Given the description of an element on the screen output the (x, y) to click on. 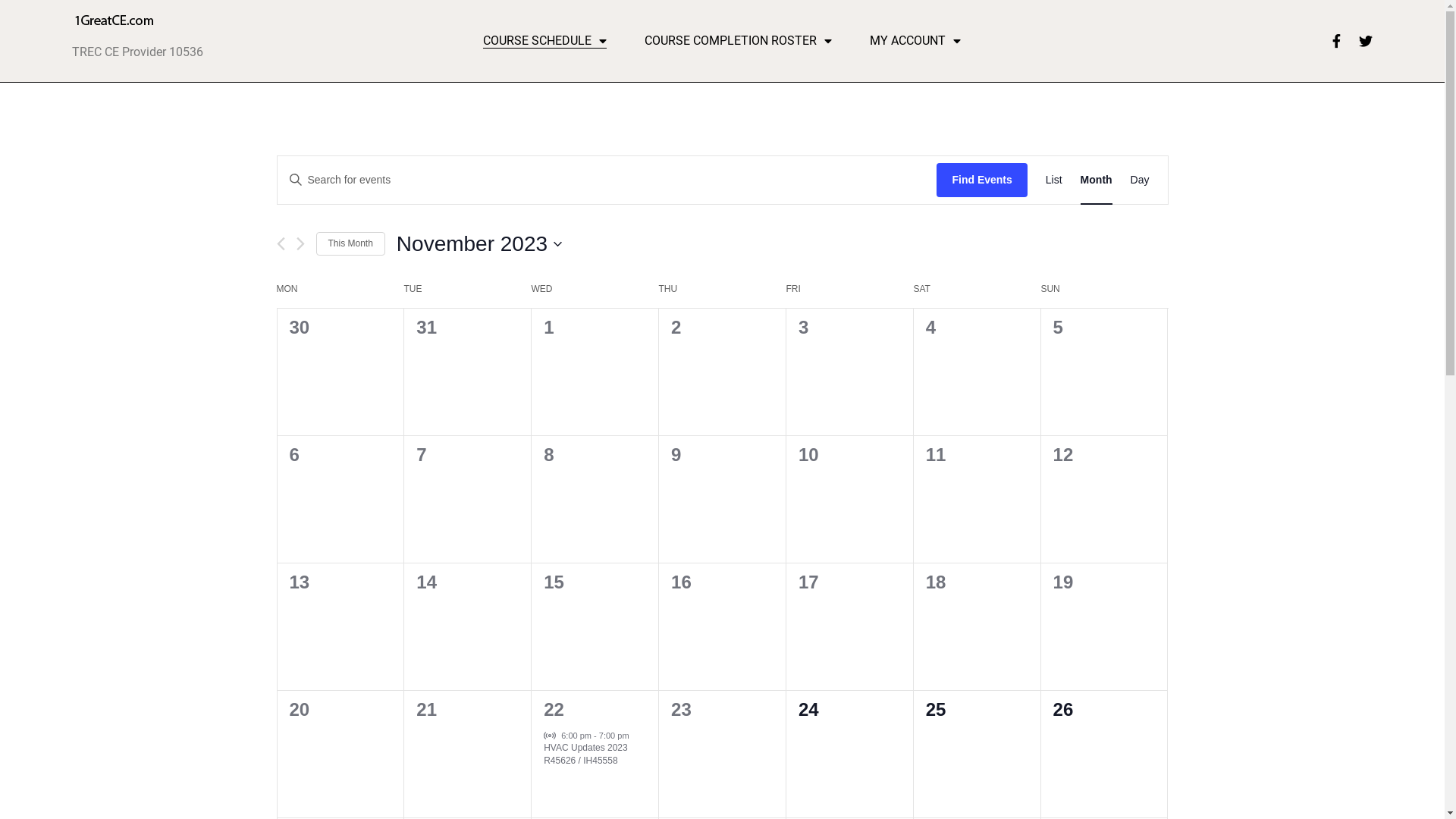
HVAC Updates 2023 R45626 / IH45558 Element type: text (585, 754)
COURSE SCHEDULE Element type: text (544, 40)
This Month Element type: text (349, 243)
Find Events Element type: text (981, 180)
Next month Element type: hover (299, 243)
MY ACCOUNT Element type: text (914, 40)
November 2023 Element type: text (478, 244)
COURSE COMPLETION ROSTER Element type: text (737, 40)
List Element type: text (1053, 179)
Previous month Element type: hover (280, 243)
Month Element type: text (1096, 179)
Day Element type: text (1139, 179)
22 Element type: text (553, 709)
